Given the description of an element on the screen output the (x, y) to click on. 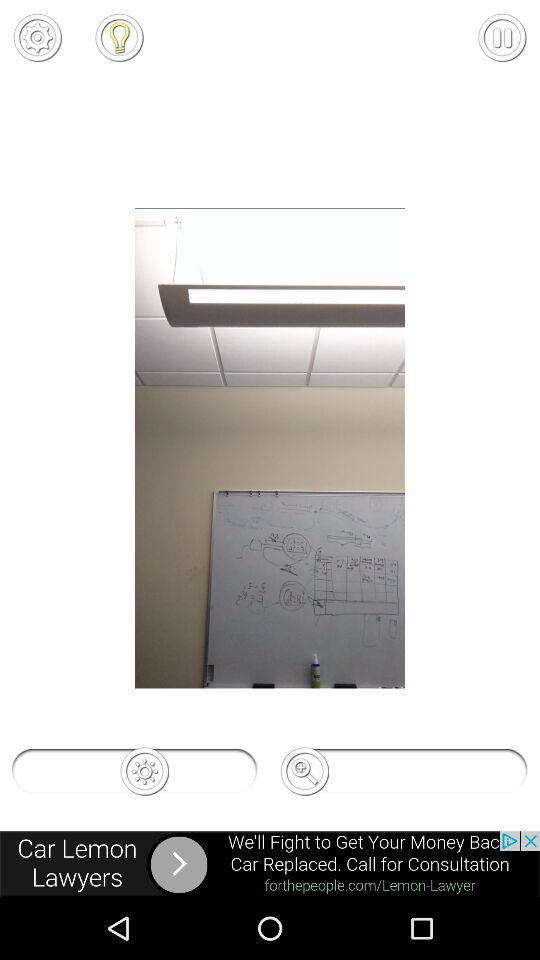
add to favorite (119, 37)
